Given the description of an element on the screen output the (x, y) to click on. 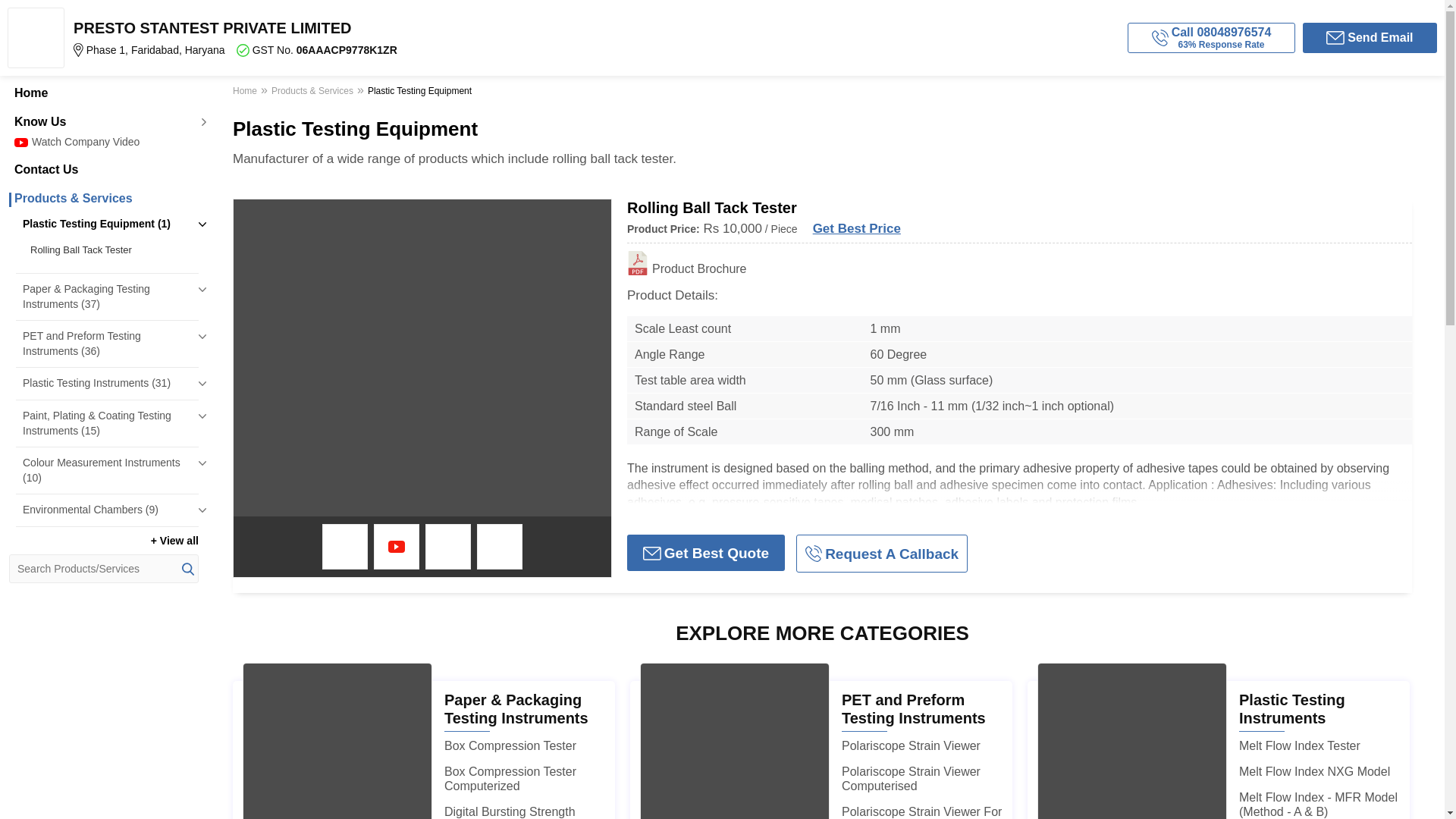
Rolling Ball Tack Tester (110, 250)
Contact Us (103, 169)
Know Us (103, 121)
Home (103, 92)
